Given the description of an element on the screen output the (x, y) to click on. 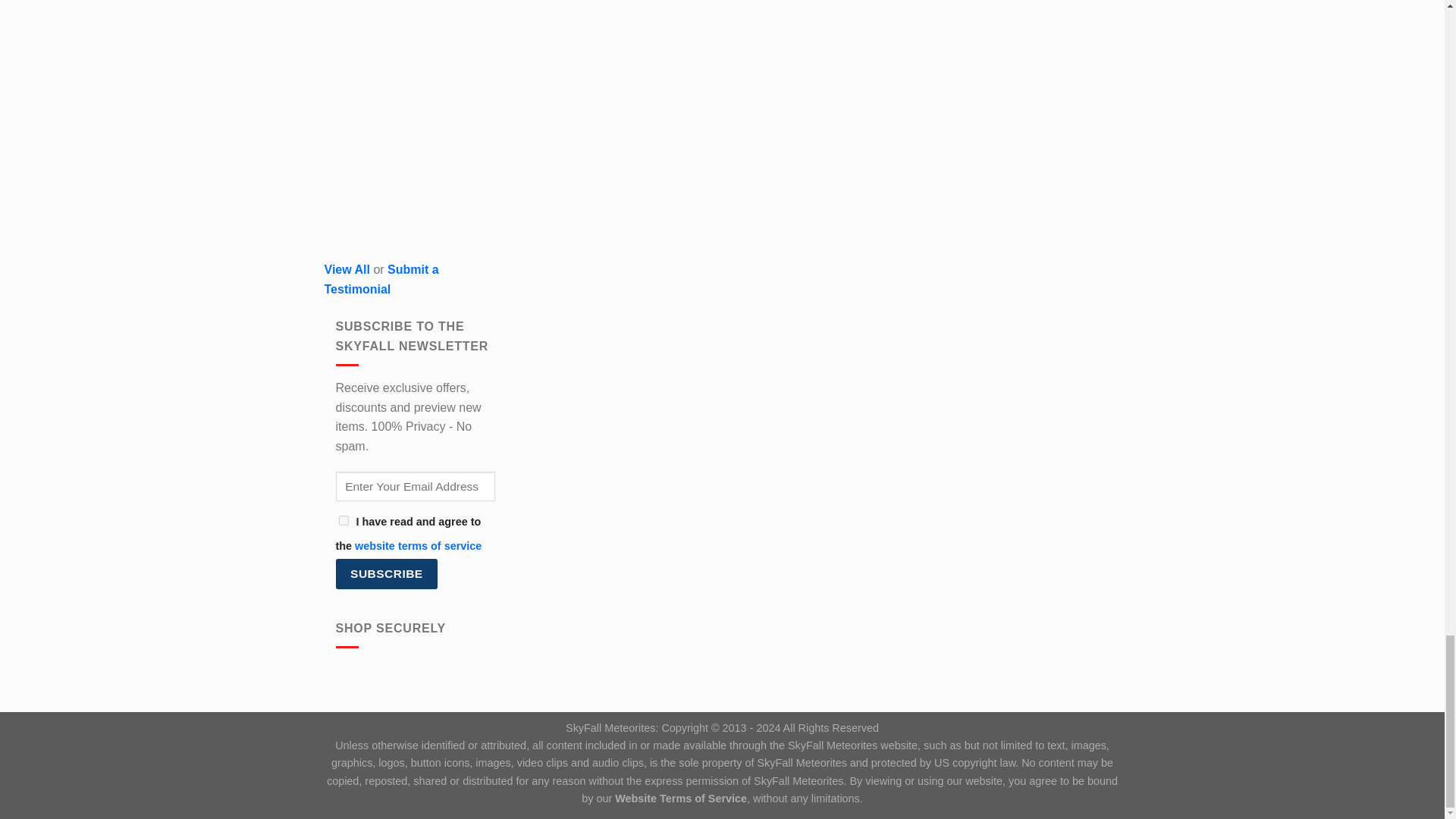
1 (342, 520)
Subscribe (386, 573)
